Given the description of an element on the screen output the (x, y) to click on. 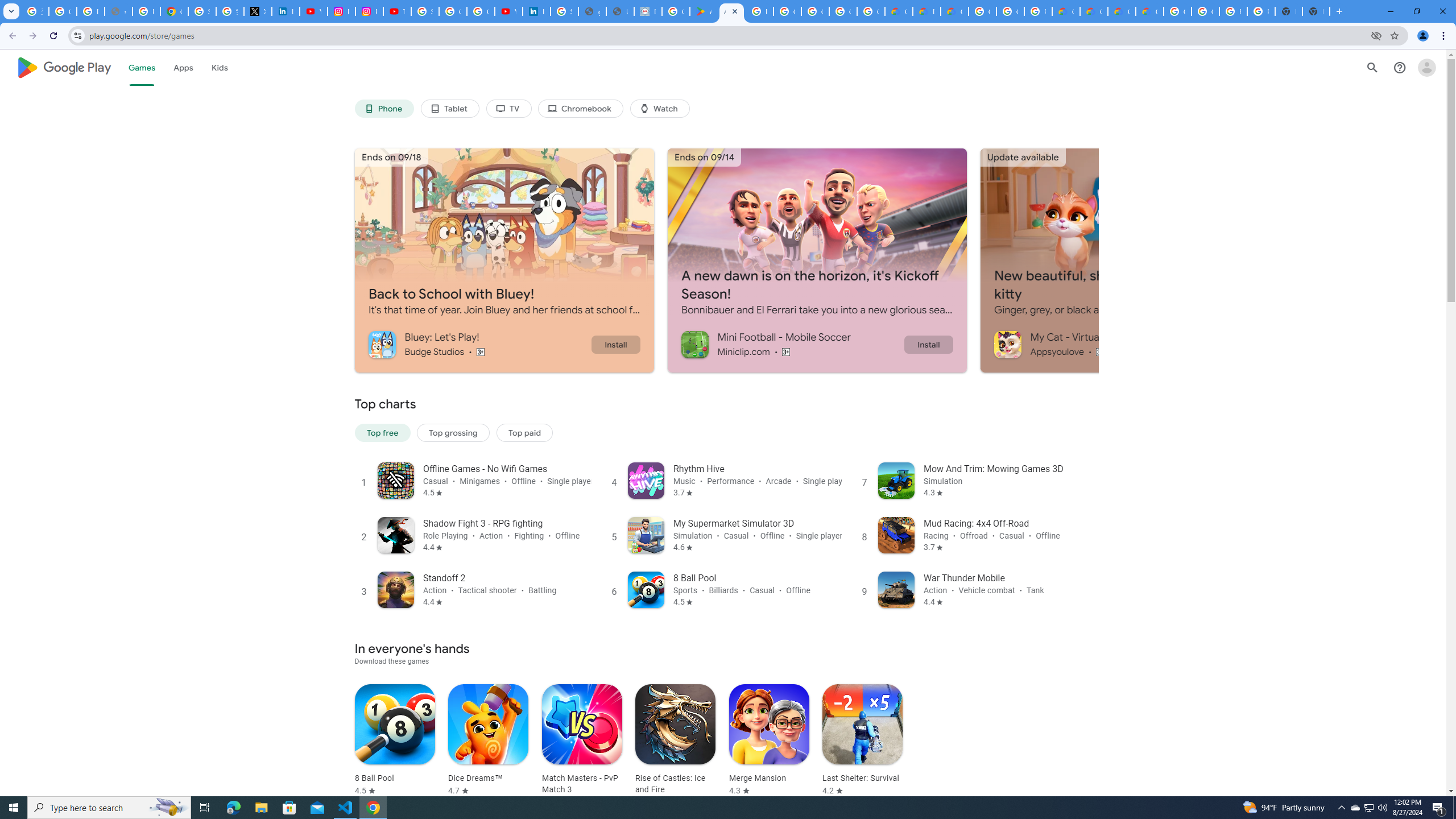
LinkedIn Privacy Policy (285, 11)
Watch (660, 108)
Google Cloud Platform (1010, 11)
Google Cloud Platform (982, 11)
Data Privacy Framework (647, 11)
Last Shelter: Survival Rated 4.2 stars out of five stars (862, 739)
